Given the description of an element on the screen output the (x, y) to click on. 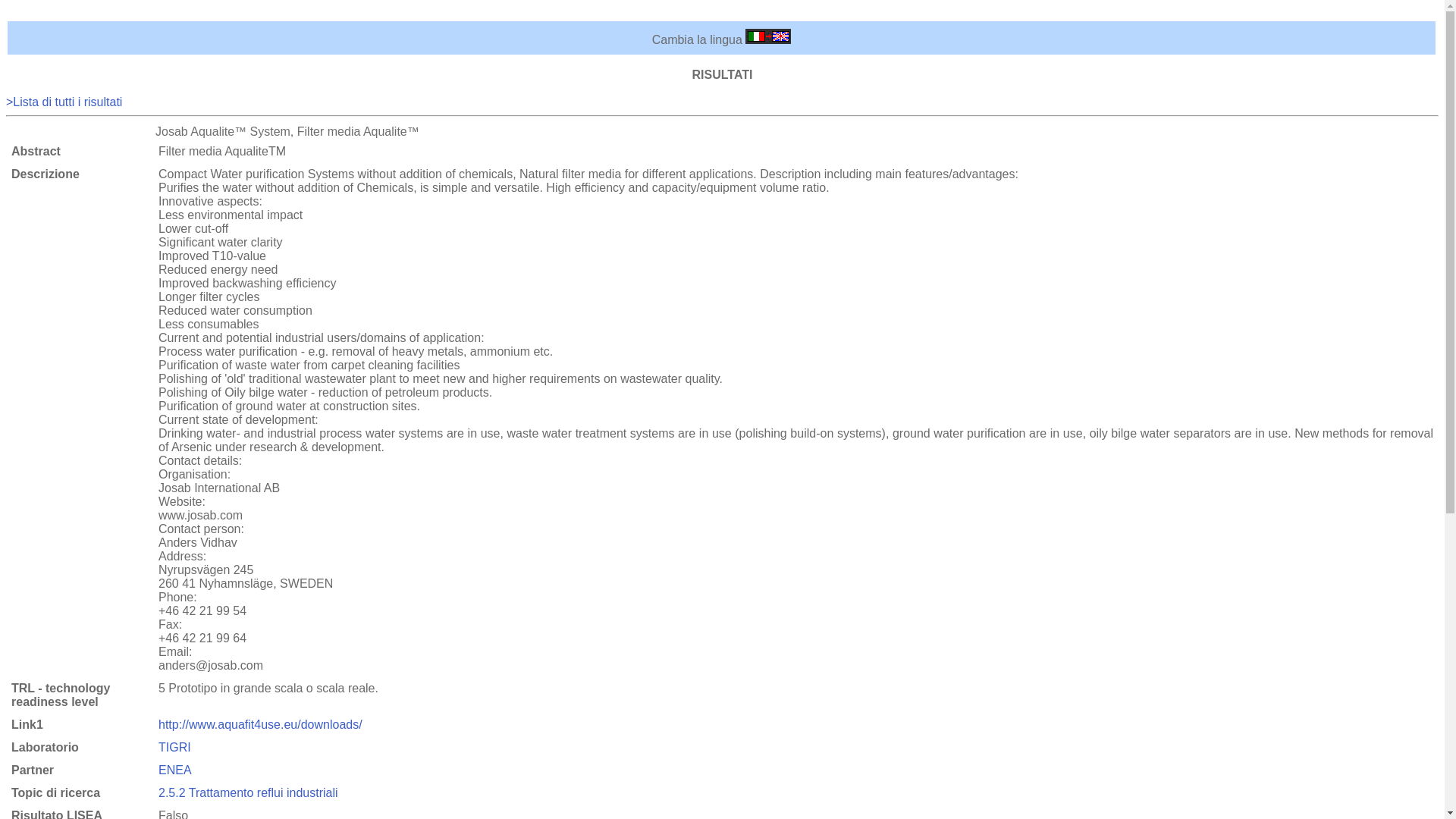
ENEA (175, 769)
2.5.2 Trattamento reflui industriali (247, 792)
Results (63, 101)
Vai al contenuto (49, 11)
TIGRI (174, 747)
Cambia la lingua (767, 39)
